Given the description of an element on the screen output the (x, y) to click on. 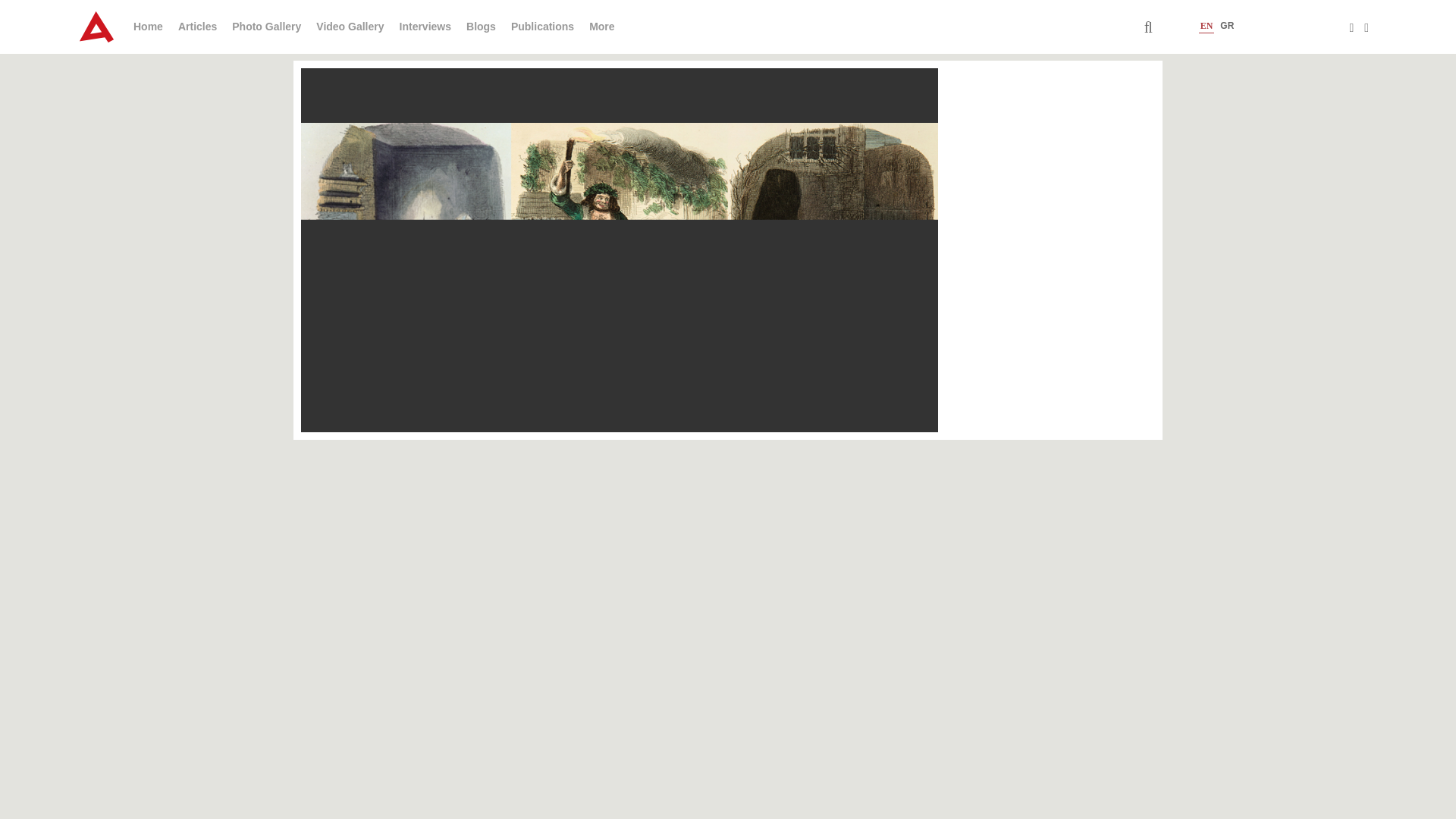
Video Gallery (349, 26)
Publications (542, 26)
Blogs (480, 26)
Articles (196, 26)
Home (148, 26)
More (601, 26)
Photo Gallery (266, 26)
GR (1226, 25)
Interviews (424, 26)
